Given the description of an element on the screen output the (x, y) to click on. 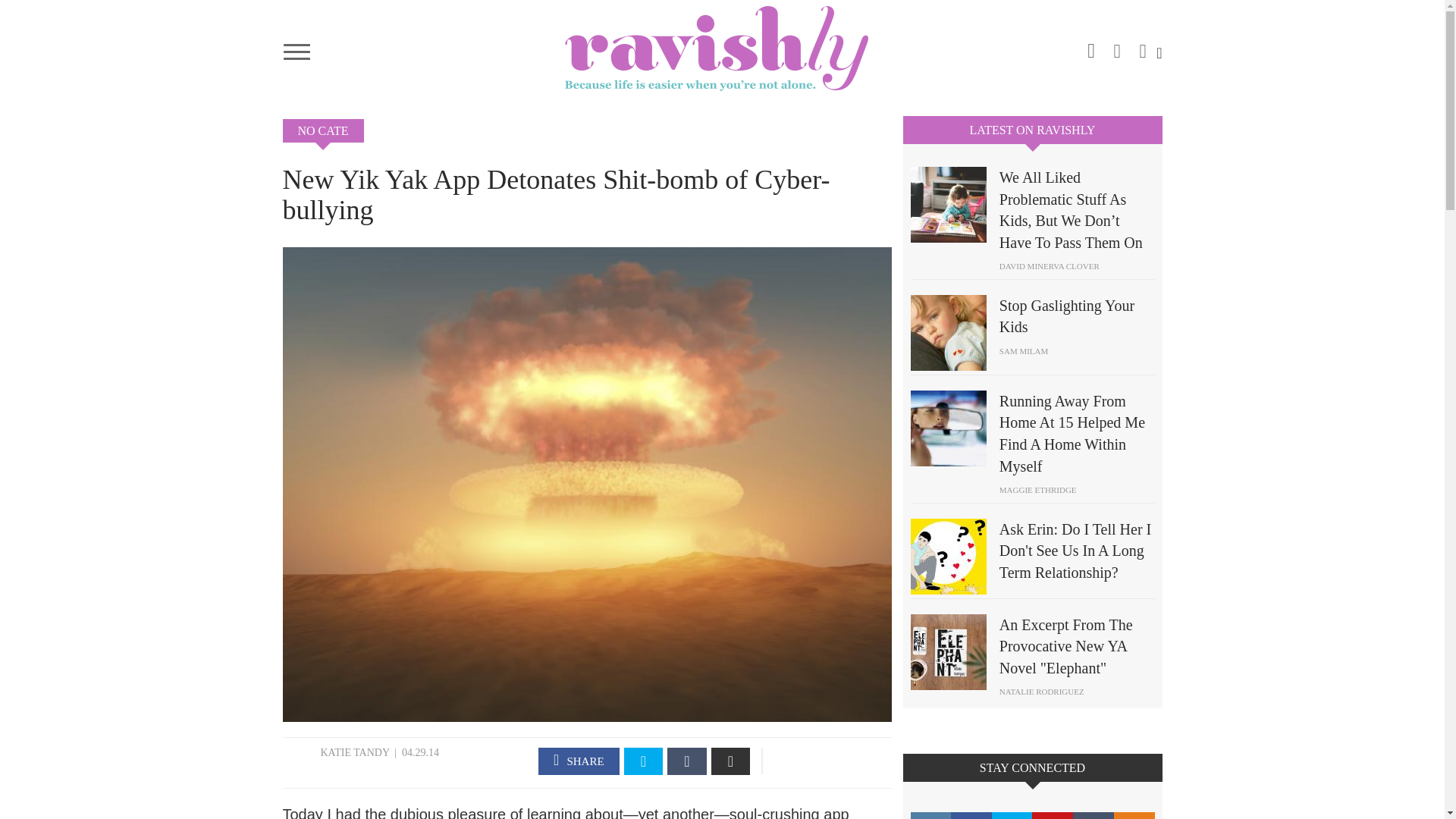
twitter (1142, 46)
facebook (579, 760)
Email (731, 760)
facebook (1117, 46)
Tumblr (686, 760)
instagram (1090, 48)
KATIE (335, 752)
TANDY (371, 752)
NO CATE (322, 130)
